Given the description of an element on the screen output the (x, y) to click on. 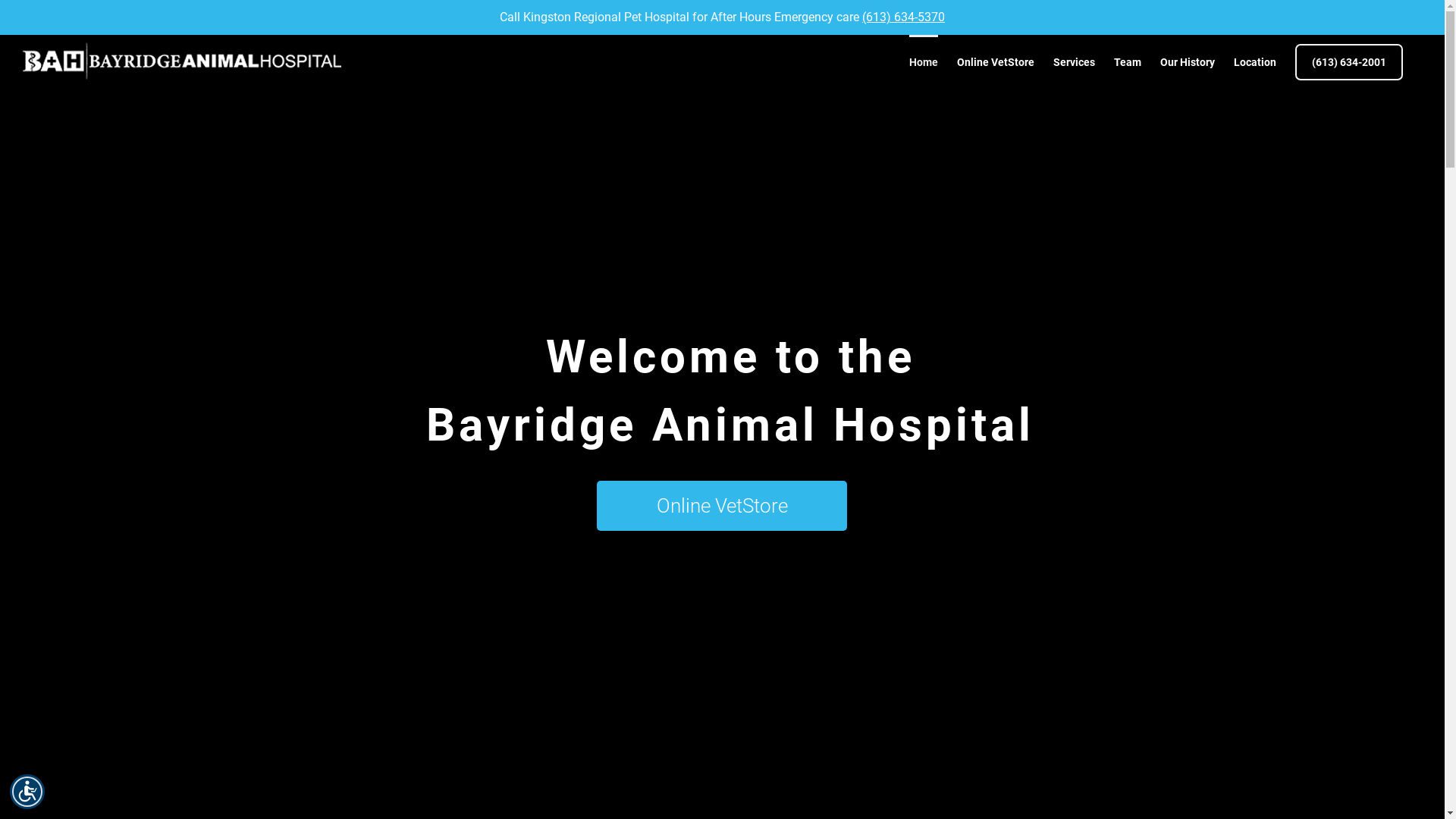
Our History Element type: text (1187, 60)
(613) 634-5370 Element type: text (903, 16)
Online VetStore Element type: text (995, 60)
(613) 634-2001 Element type: text (1348, 60)
Location Element type: text (1254, 60)
Team Element type: text (1127, 60)
Home Element type: text (923, 60)
Services Element type: text (1074, 60)
